Given the description of an element on the screen output the (x, y) to click on. 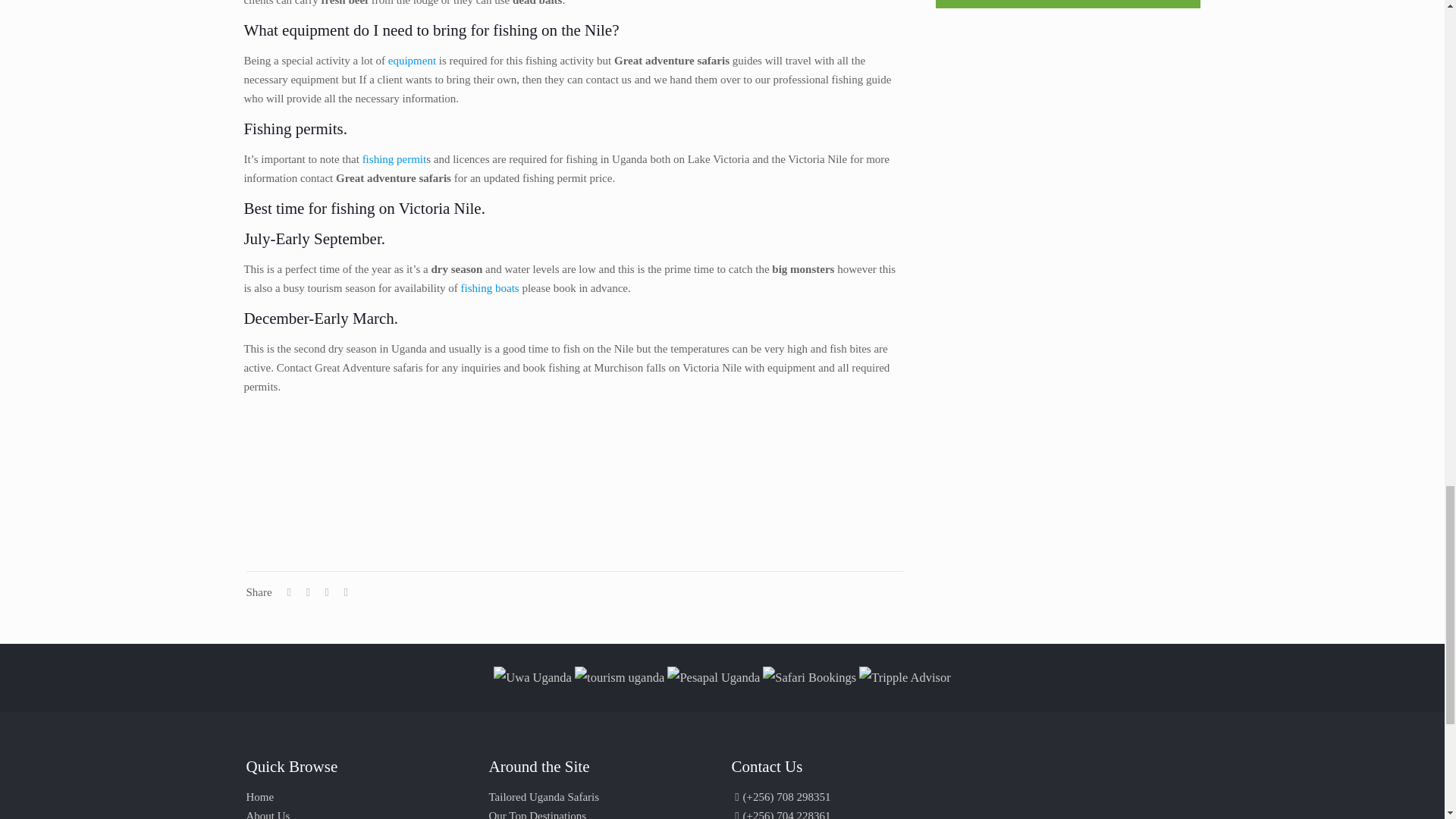
EQUIRE NOW (1067, 4)
